Given the description of an element on the screen output the (x, y) to click on. 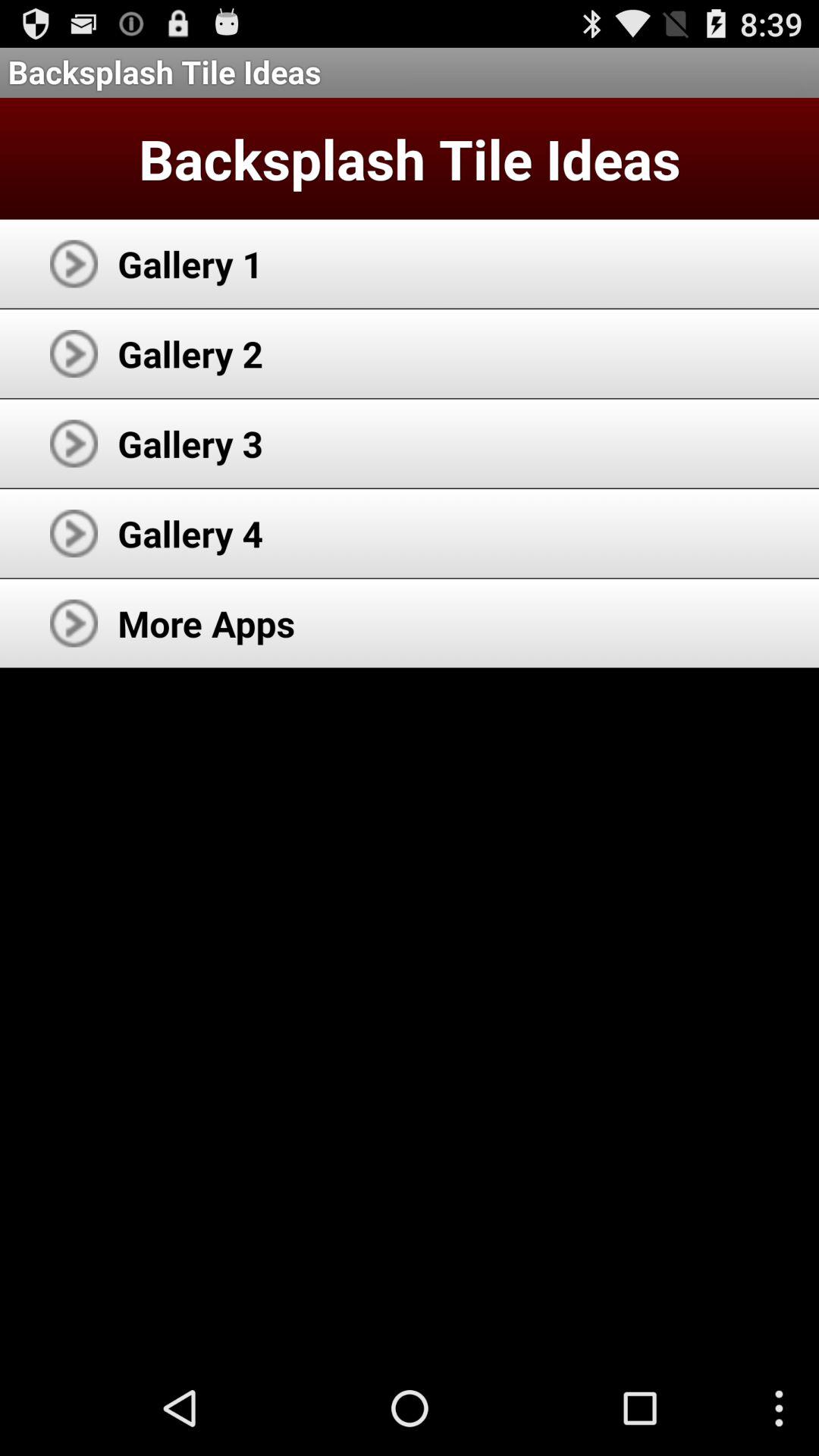
open gallery 2 (190, 353)
